Given the description of an element on the screen output the (x, y) to click on. 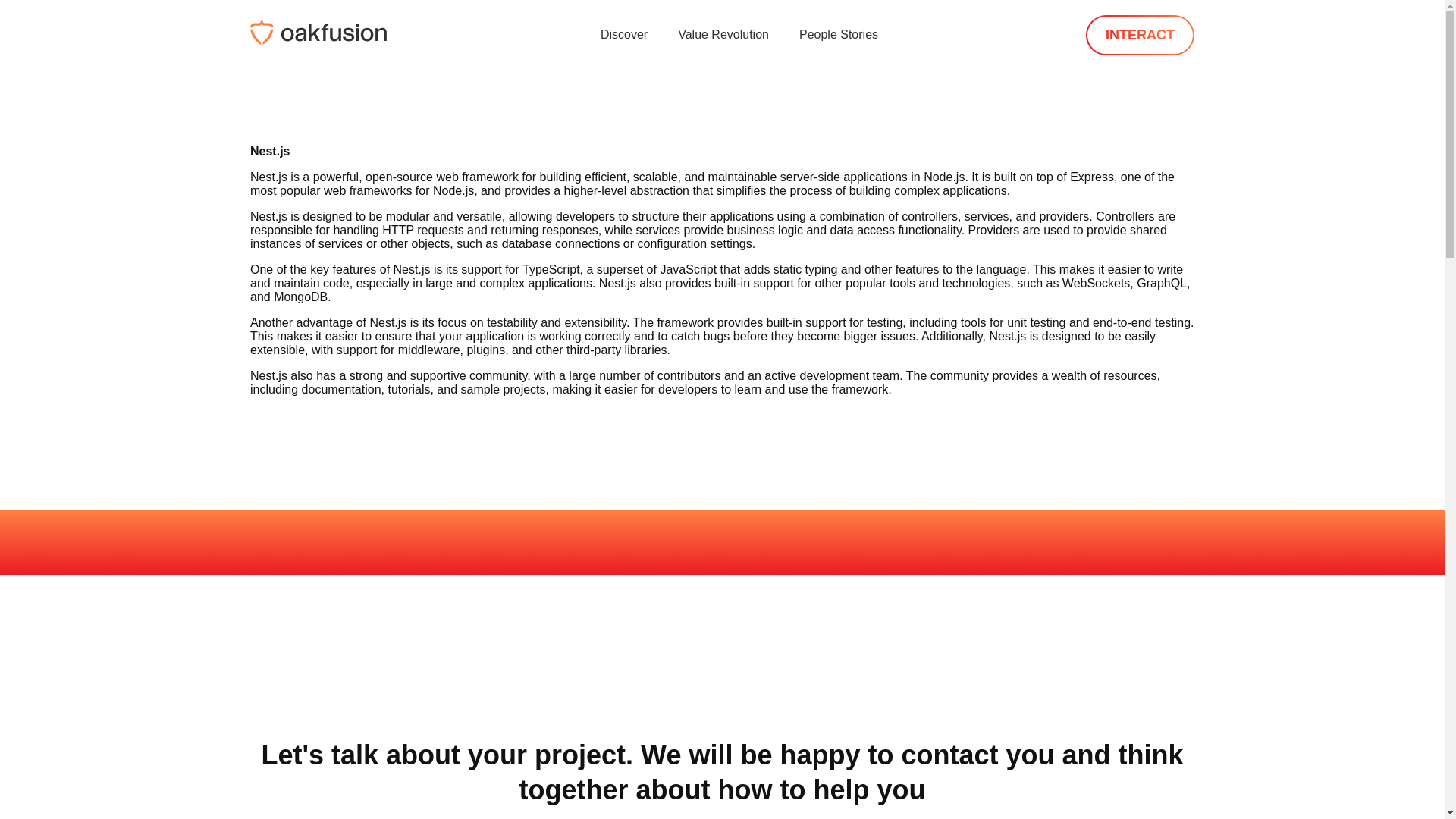
Discover (623, 33)
INTERACT (1139, 35)
People Stories (838, 33)
Value Revolution (723, 33)
